Given the description of an element on the screen output the (x, y) to click on. 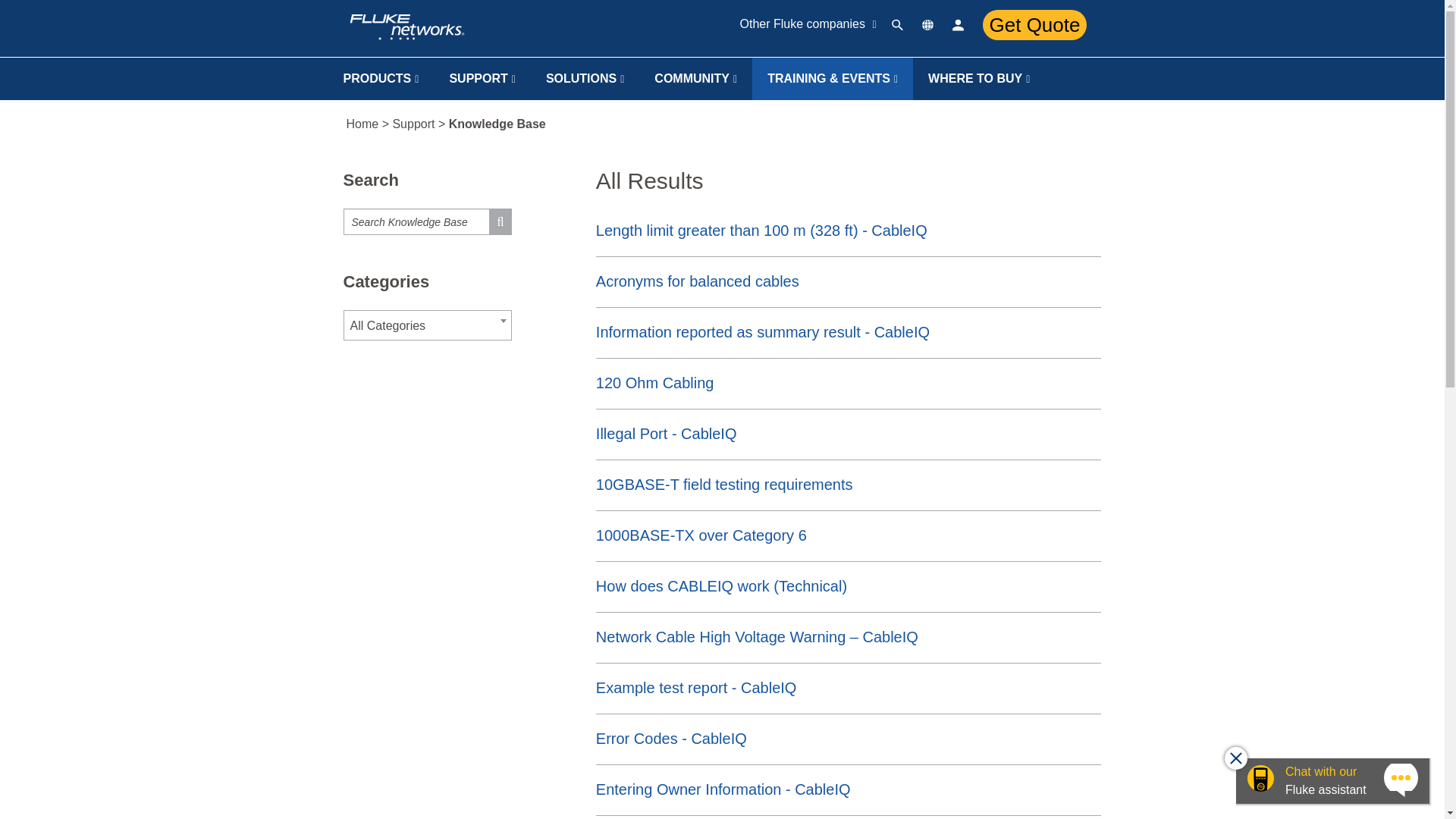
world-icon-white (929, 27)
account-icon-white (960, 24)
Home (458, 27)
All Categories (427, 326)
Other Fluke companies (807, 26)
search-icon-white (899, 24)
world-icon-white (929, 24)
search-icon-white (899, 27)
Get Quote (1034, 24)
account-icon-white (960, 27)
world-icon-white (929, 27)
search-icon-white (899, 27)
